Given the description of an element on the screen output the (x, y) to click on. 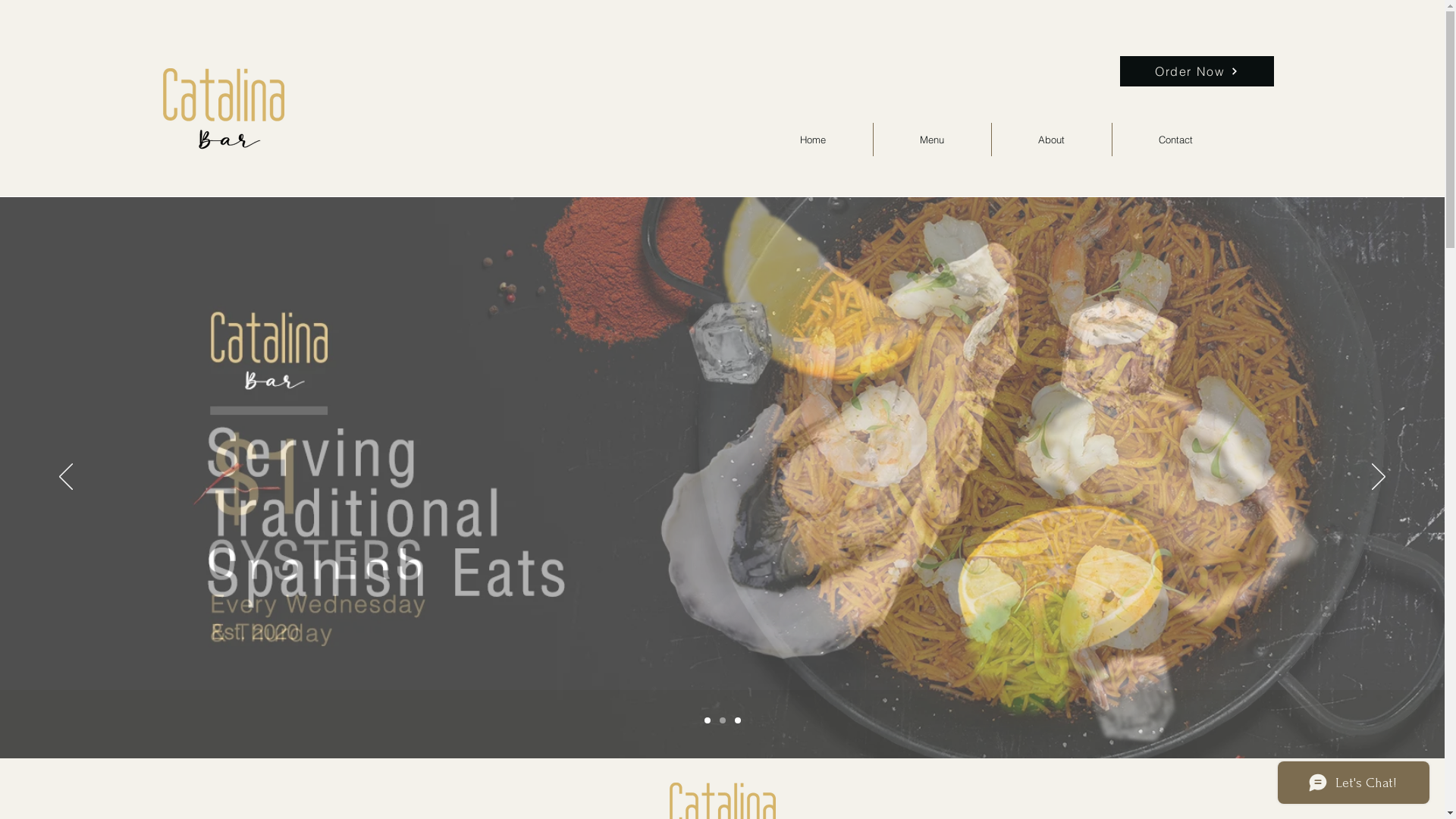
Home Element type: text (812, 139)
Order Now Element type: text (1197, 71)
Menu Element type: text (932, 139)
Contact Element type: text (1175, 139)
About Element type: text (1051, 139)
